Given the description of an element on the screen output the (x, y) to click on. 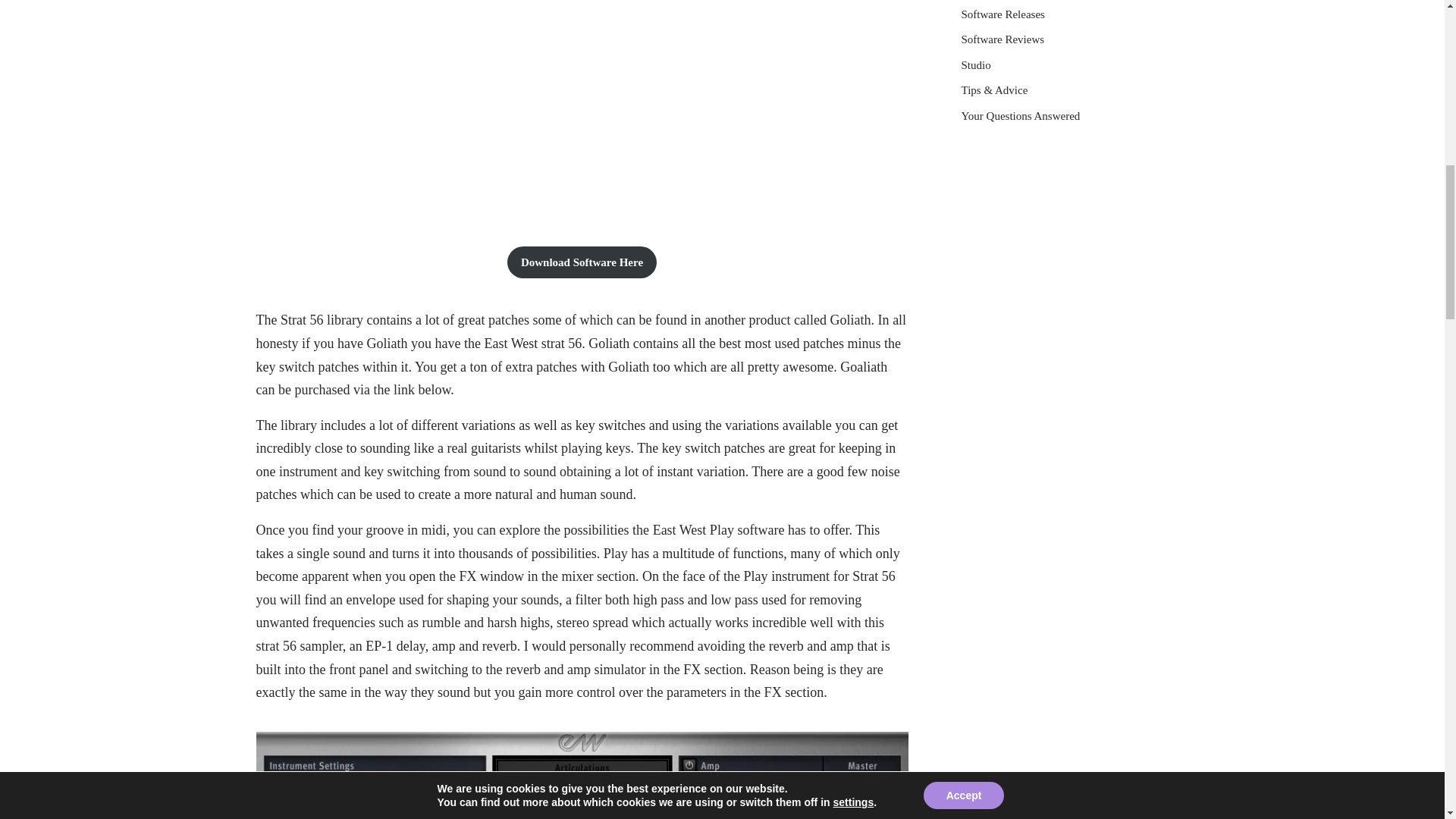
East-West-Strat-56-Play-6t (582, 775)
